Given the description of an element on the screen output the (x, y) to click on. 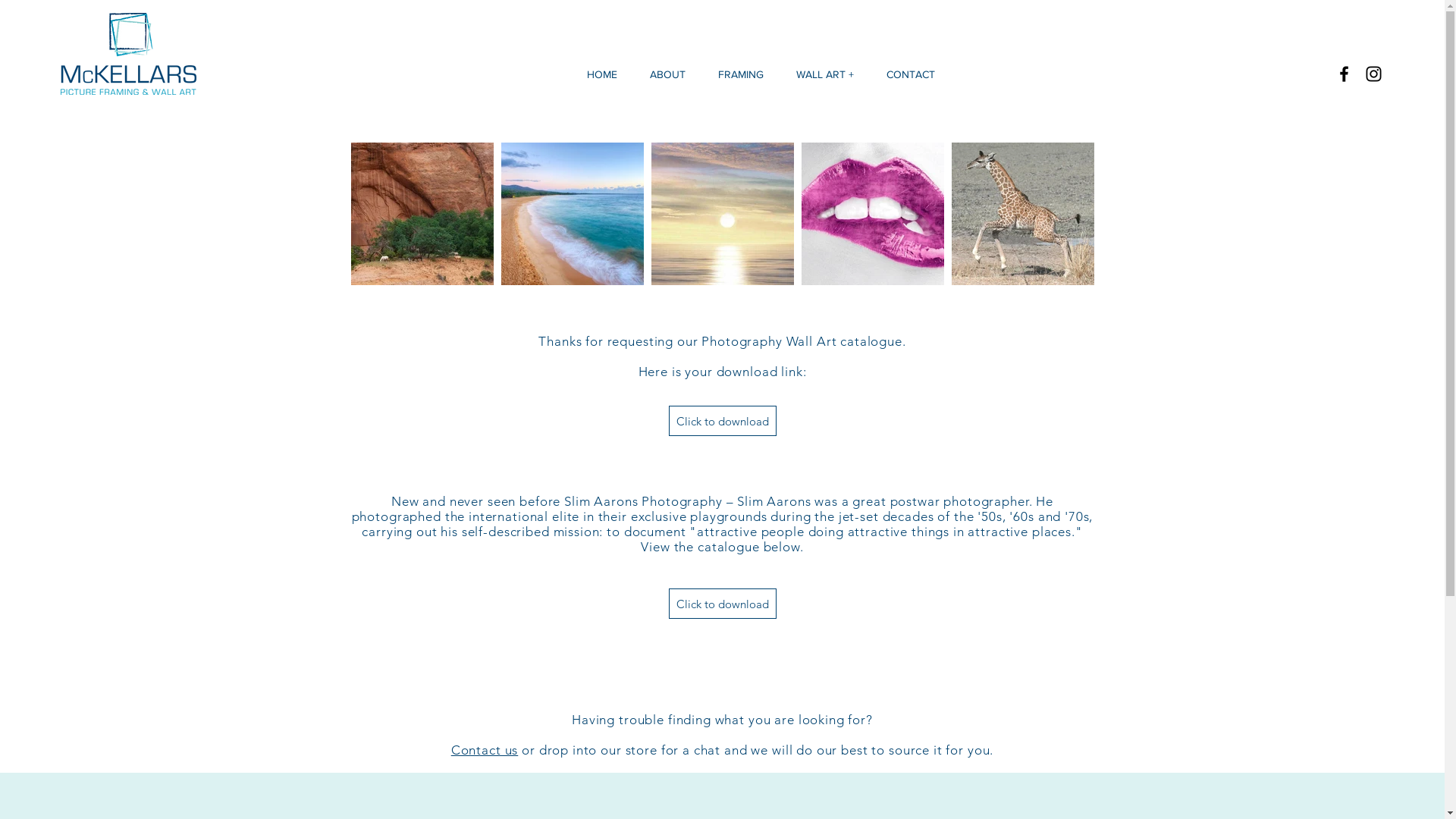
FRAMING Element type: text (741, 74)
Click to download Element type: text (722, 420)
WALL ART + Element type: text (824, 74)
ABOUT Element type: text (667, 74)
HOME Element type: text (601, 74)
CONTACT Element type: text (910, 74)
Contact us Element type: text (484, 749)
Click to download Element type: text (722, 603)
